Given the description of an element on the screen output the (x, y) to click on. 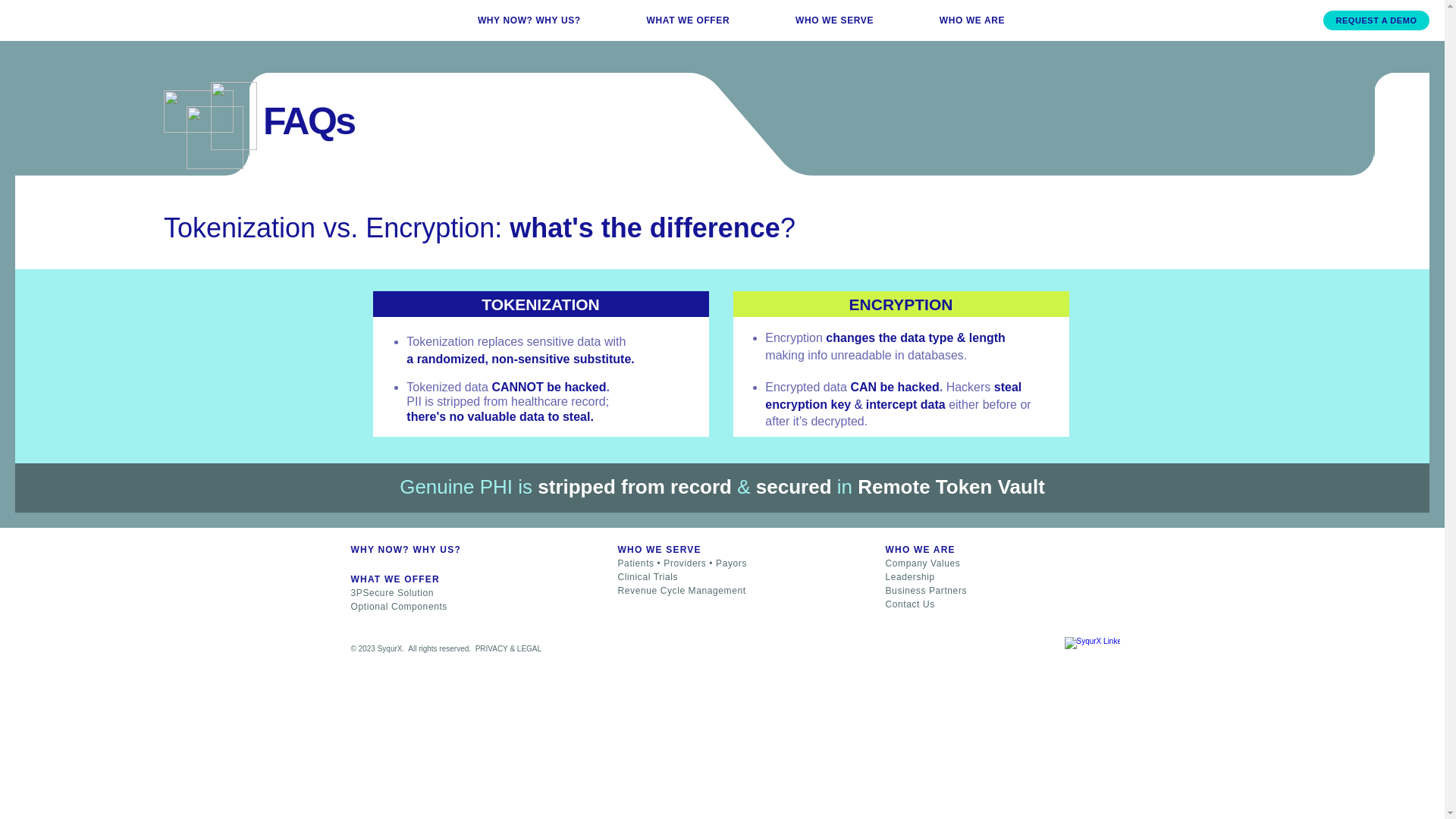
Optional Components (398, 605)
WHY NOW? WHY US? (405, 549)
REQUEST A DEMO (1376, 20)
Leadership (909, 576)
Revenue Cycle Management (681, 590)
Business Partners (926, 590)
Contact Us (909, 603)
3PSecure Solution (391, 592)
Company Values  (924, 562)
WHY NOW? WHY US? (528, 20)
